Given the description of an element on the screen output the (x, y) to click on. 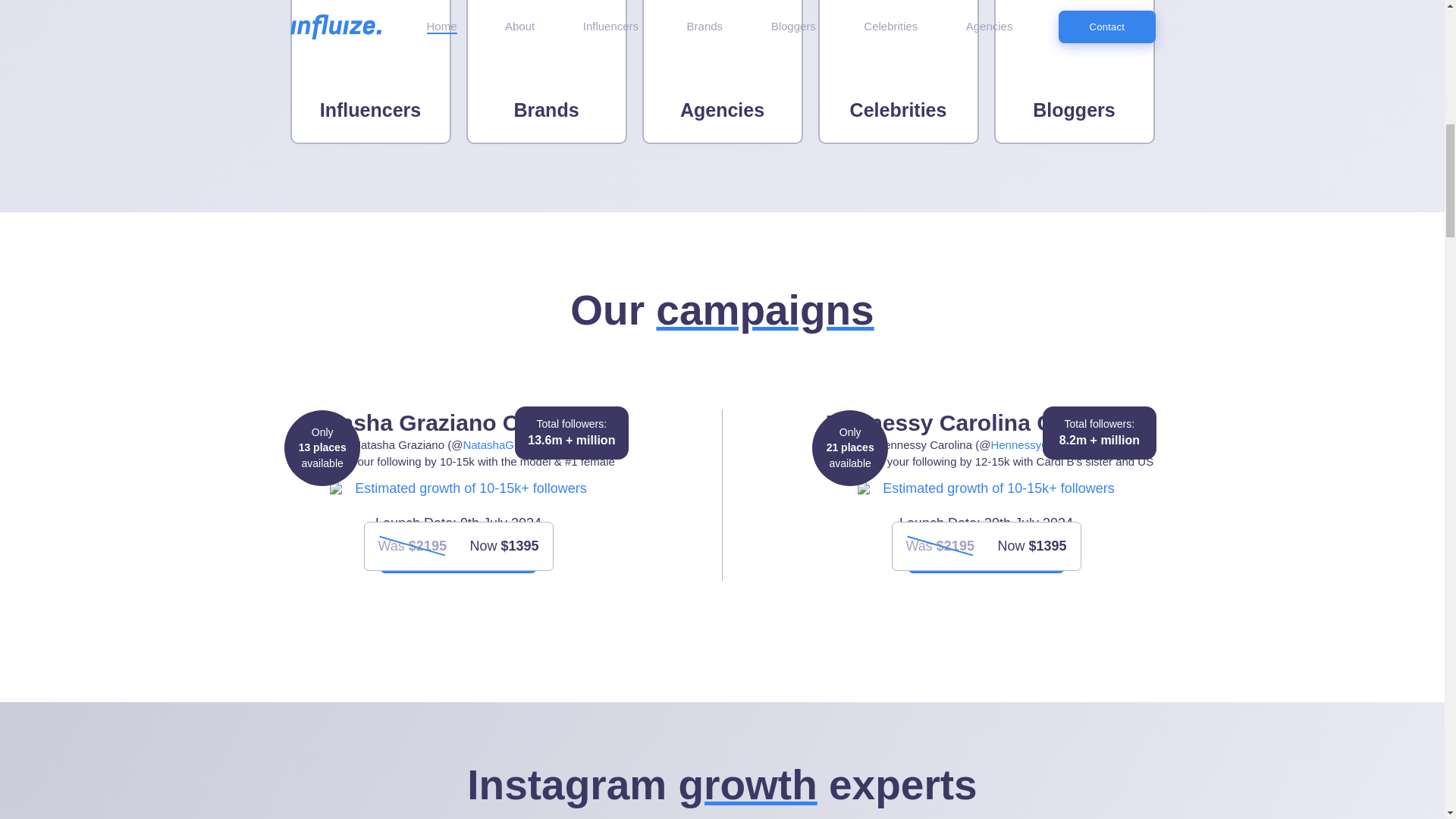
Book your place now (458, 556)
Agencies (722, 72)
Natasha Graziano Campaign (507, 444)
Brands (545, 72)
NatashaGraziano (507, 444)
Influencers (369, 72)
Bloggers (1073, 72)
HennessyCarolina (1036, 444)
Celebrities (897, 72)
Book your place now (986, 556)
Hennessy Carolina (1036, 444)
